Given the description of an element on the screen output the (x, y) to click on. 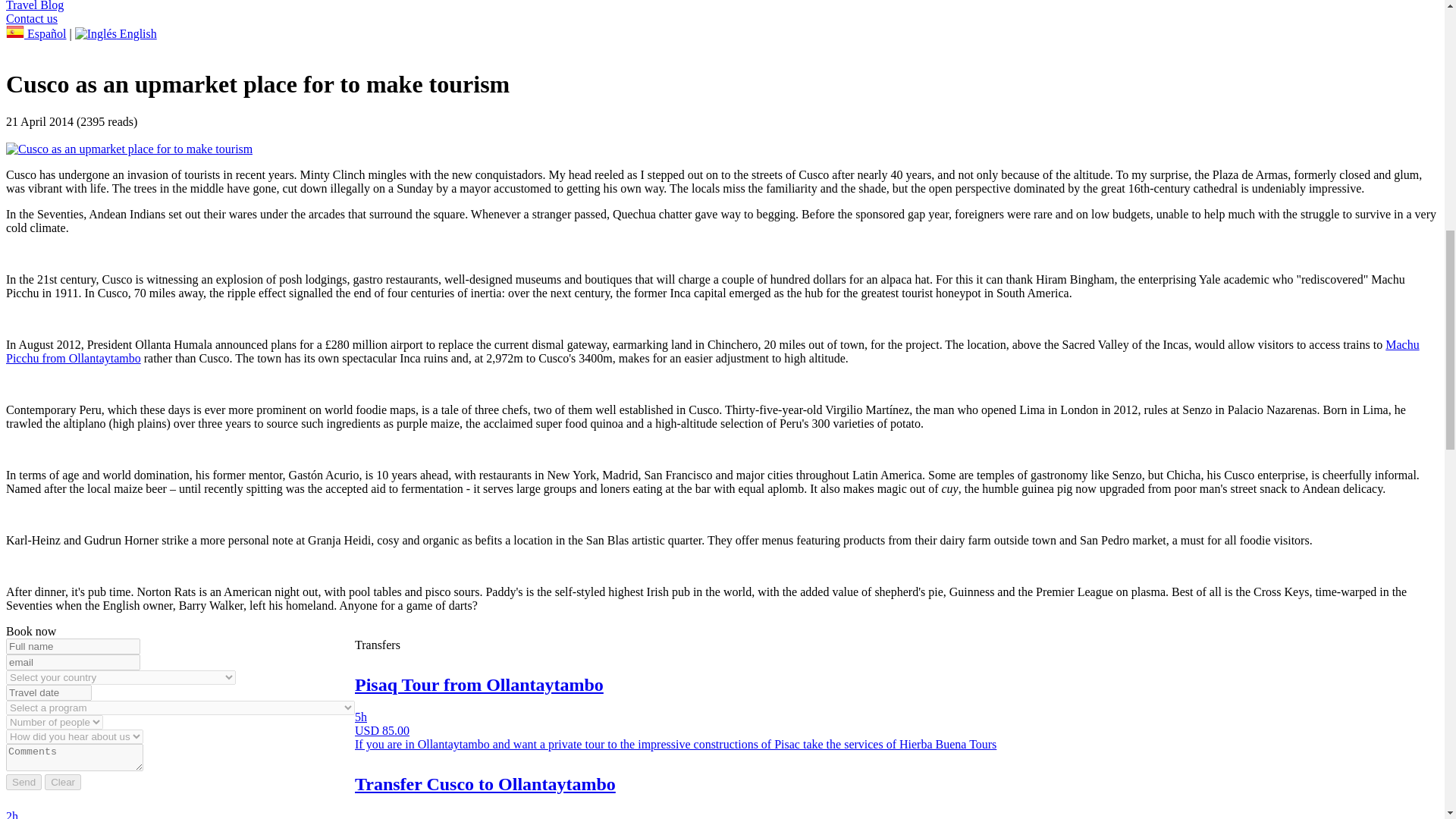
Send (23, 781)
Clear (63, 781)
Cusco as an upmarket place for to make tourism (128, 149)
